Given the description of an element on the screen output the (x, y) to click on. 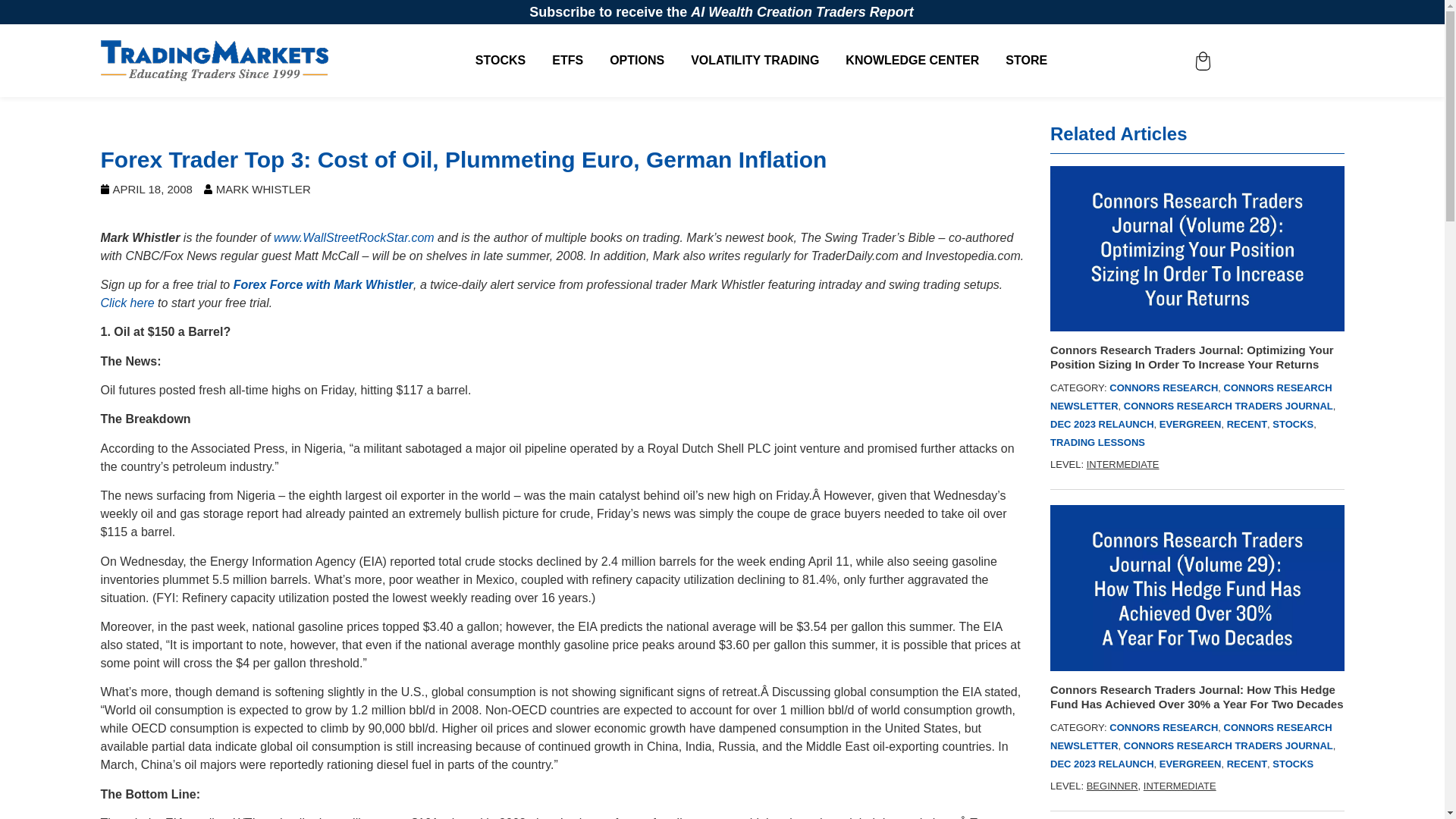
Subscribe to receive the AI Wealth Creation Traders Report (722, 11)
CONNORS RESEARCH TRADERS JOURNAL (1228, 745)
CONNORS RESEARCH (1163, 727)
Forex Force with Mark Whistler (322, 284)
CONNORS RESEARCH (1163, 387)
INTERMEDIATE (1122, 464)
STOCKS (1292, 423)
CONNORS RESEARCH NEWSLETTER (1190, 396)
TRADING LESSONS (1096, 441)
KNOWLEDGE CENTER (911, 60)
EVERGREEN (1189, 423)
CONNORS RESEARCH NEWSLETTER (1190, 736)
CONNORS RESEARCH TRADERS JOURNAL (1228, 405)
RECENT (1246, 423)
DEC 2023 RELAUNCH (1101, 423)
